Given the description of an element on the screen output the (x, y) to click on. 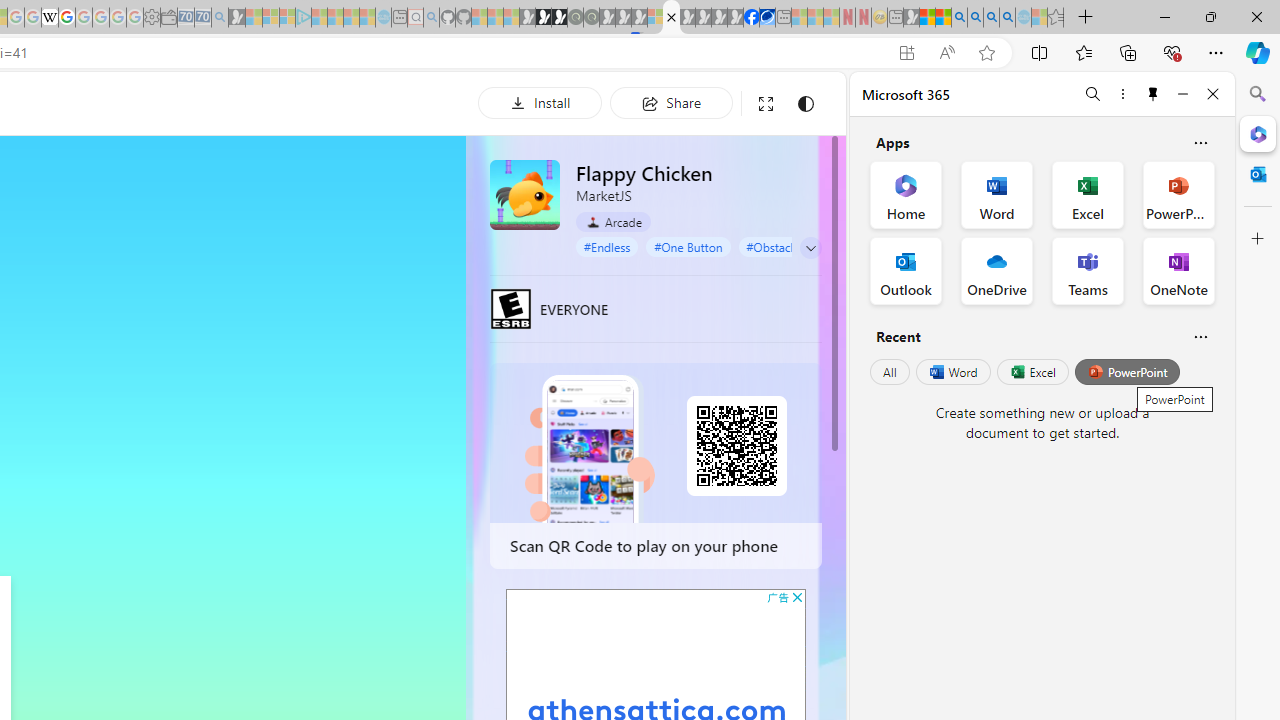
#One Button (688, 246)
Word (952, 372)
Wallet - Sleeping (168, 17)
All (890, 372)
Excel Office App (1087, 194)
Change to dark mode (805, 103)
App available. Install Flappy Chicken (906, 53)
Home | Sky Blue Bikes - Sky Blue Bikes - Sleeping (383, 17)
